Given the description of an element on the screen output the (x, y) to click on. 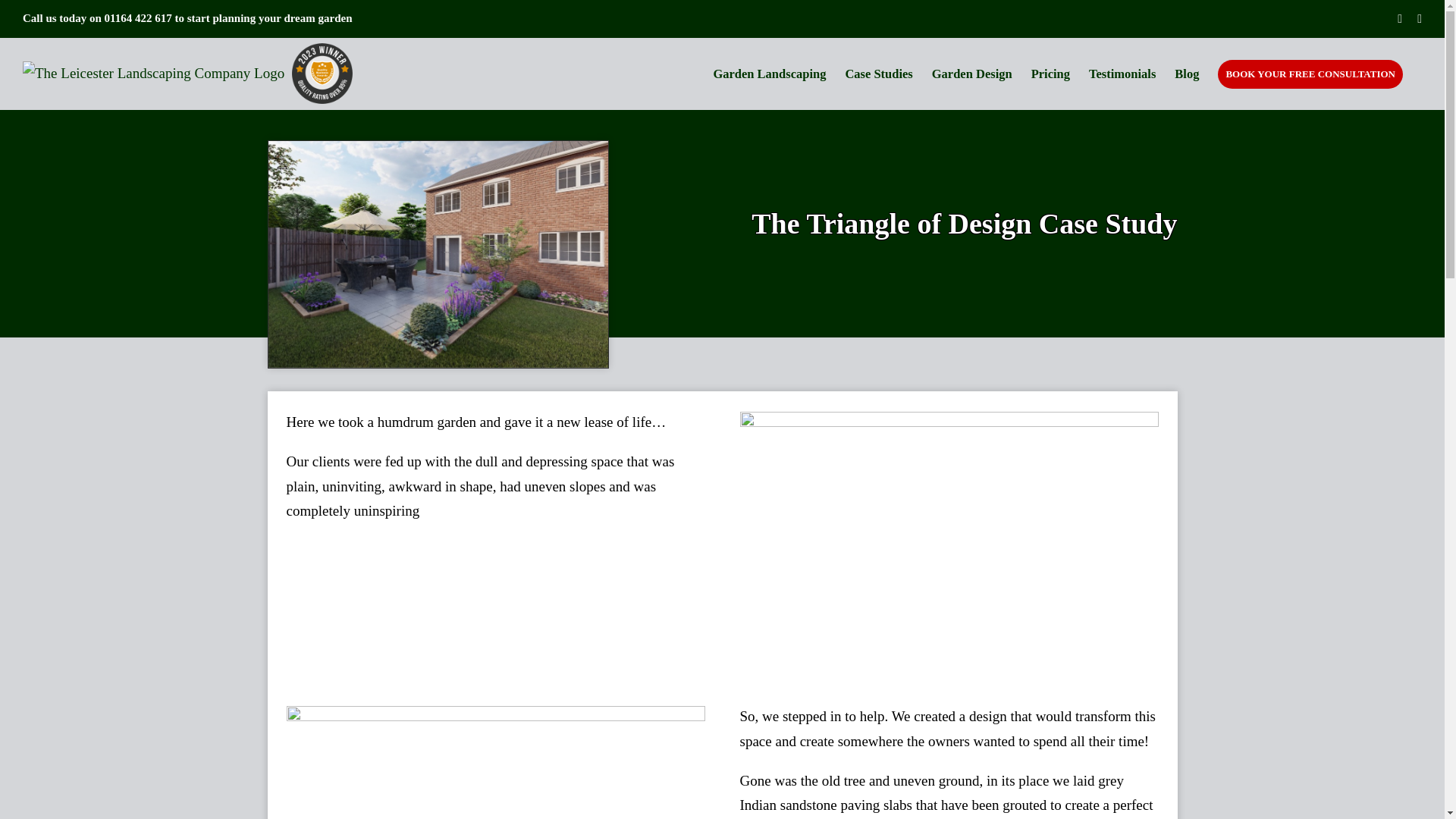
View Larger Image (437, 253)
01164 422 617 (137, 18)
Book Your Your Free Consultation (1310, 72)
Garden Landscaping (769, 72)
Testimonials (1122, 72)
Garden Landscaping Services (769, 72)
Case Studies (878, 72)
Garden Design (971, 72)
Testimonials (1122, 72)
Triangle of Design 7 (948, 549)
